Given the description of an element on the screen output the (x, y) to click on. 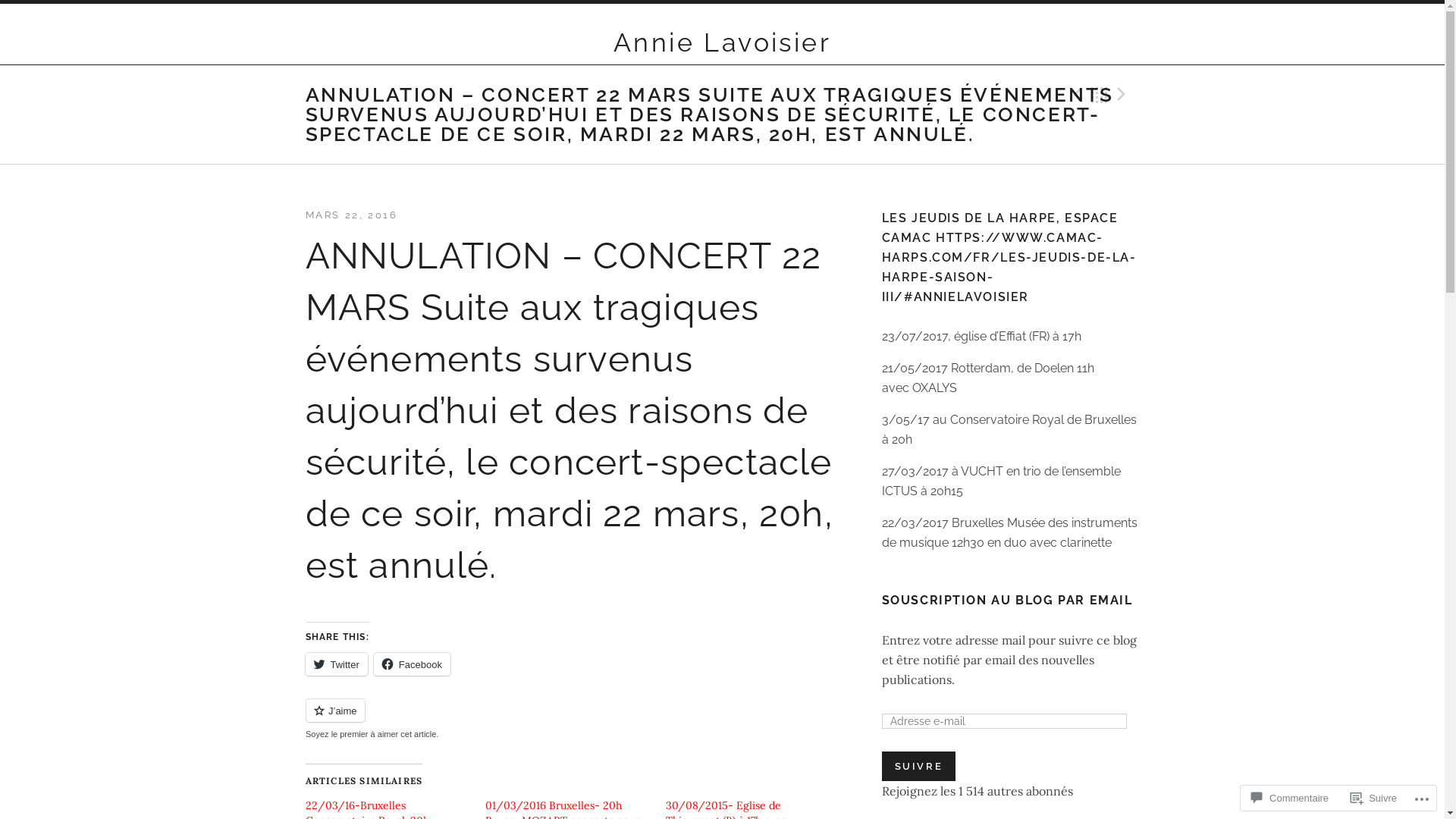
Twitter Element type: text (335, 663)
21/05/2017 Rotterdam, de Doelen 11h avec OXALYS Element type: text (987, 377)
Aimer ou rebloguer Element type: hover (577, 719)
Next Article Element type: text (1123, 94)
Suivre Element type: text (1373, 797)
Commentaire Element type: text (1289, 797)
Previous Article Element type: text (1075, 94)
SUIVRE Element type: text (918, 766)
Facebook Element type: text (411, 663)
Annie Lavoisier Element type: text (722, 42)
Back Element type: text (1099, 94)
